Given the description of an element on the screen output the (x, y) to click on. 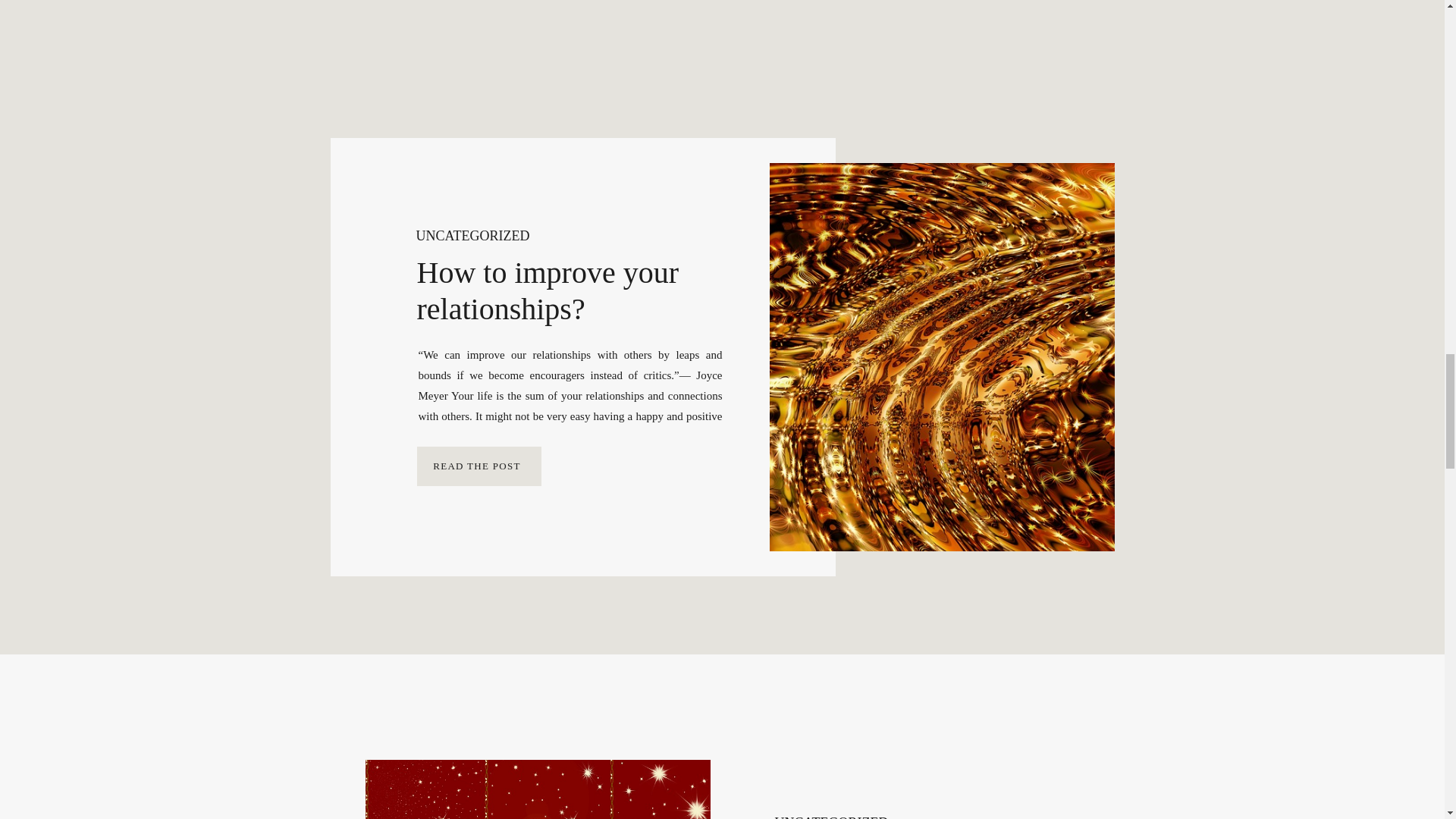
Remove negative people from your life (537, 789)
How to improve your relationships? (478, 466)
READ THE POST (477, 465)
How to improve your relationships? (477, 465)
UNCATEGORIZED (471, 235)
How to improve your relationships? (547, 290)
